Given the description of an element on the screen output the (x, y) to click on. 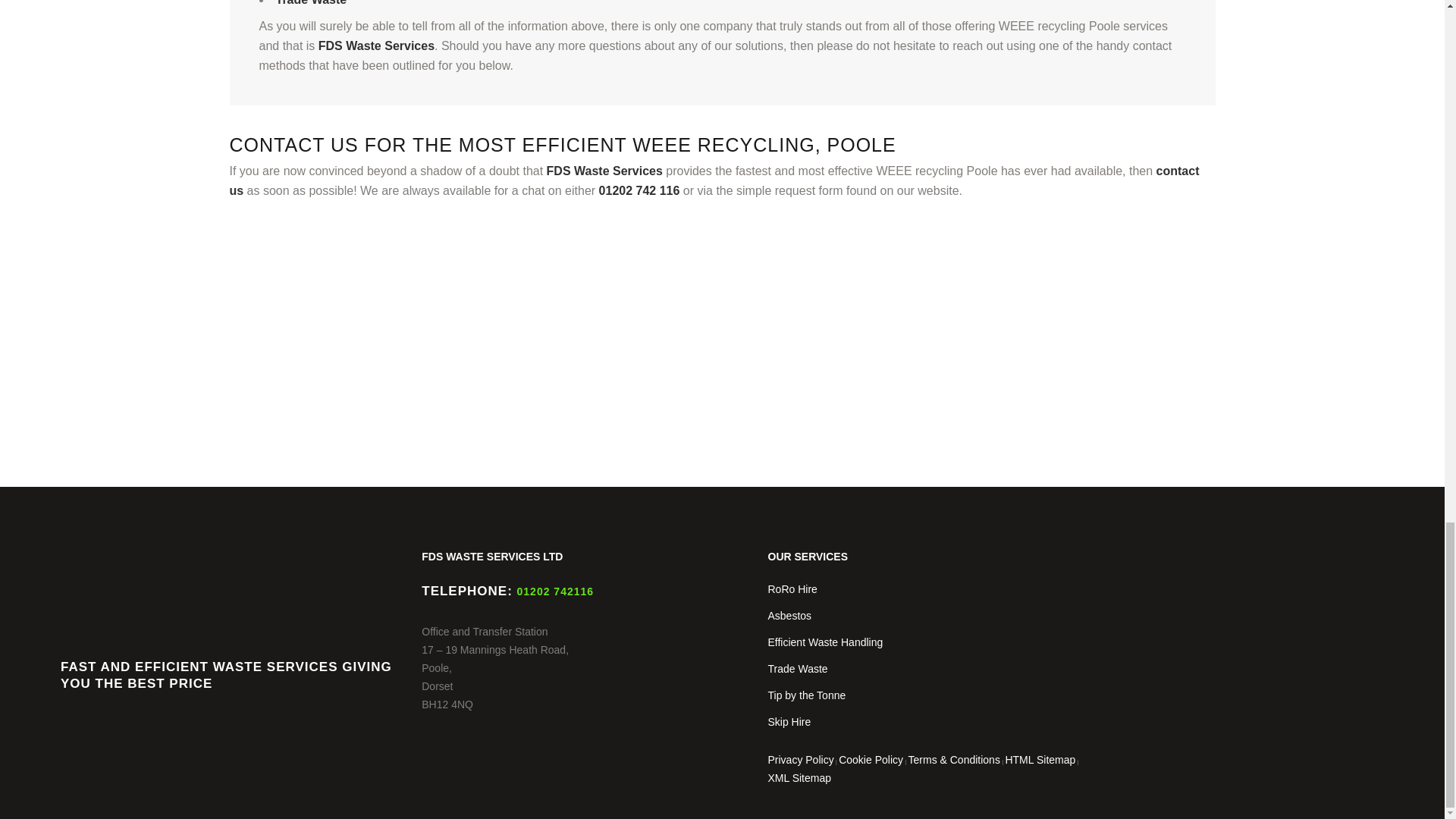
FDS Waste Services (604, 170)
Trade Waste (311, 2)
FDS Waste Services (375, 45)
contact us (713, 180)
01202 742 116 (638, 190)
